Given the description of an element on the screen output the (x, y) to click on. 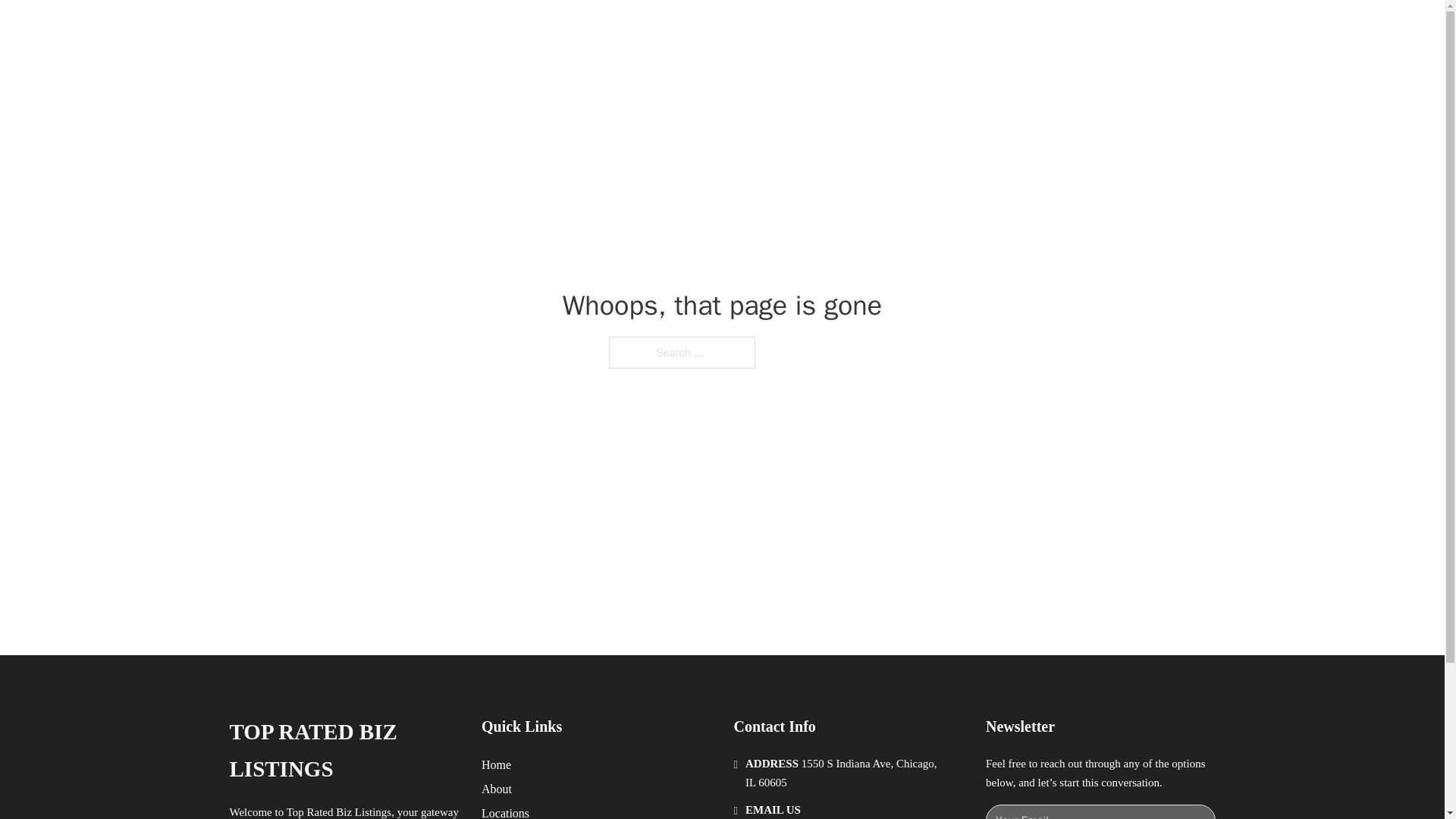
Locations (505, 811)
LOCATIONS (990, 29)
About (496, 788)
TOP RATED BIZ LISTINGS (432, 28)
HOME (919, 29)
TOP RATED BIZ LISTINGS (343, 750)
Home (496, 764)
